Given the description of an element on the screen output the (x, y) to click on. 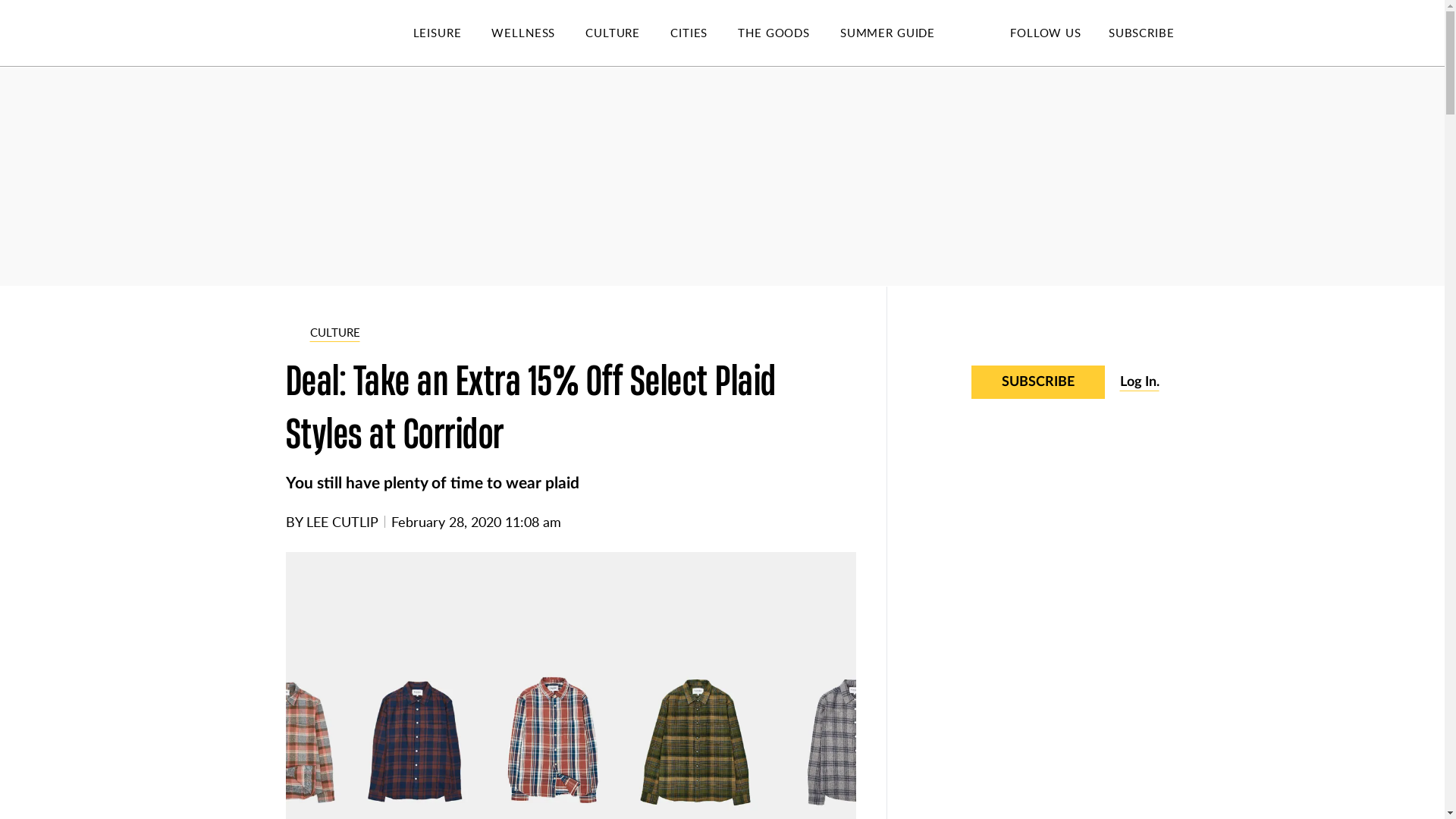
LEISURE (452, 32)
FOLLOW US (1045, 32)
SUBSCRIBE (1141, 31)
THE GOODS (789, 32)
CITIES (703, 32)
CULTURE (627, 32)
WELLNESS (538, 32)
SUMMER GUIDE (902, 32)
